Given the description of an element on the screen output the (x, y) to click on. 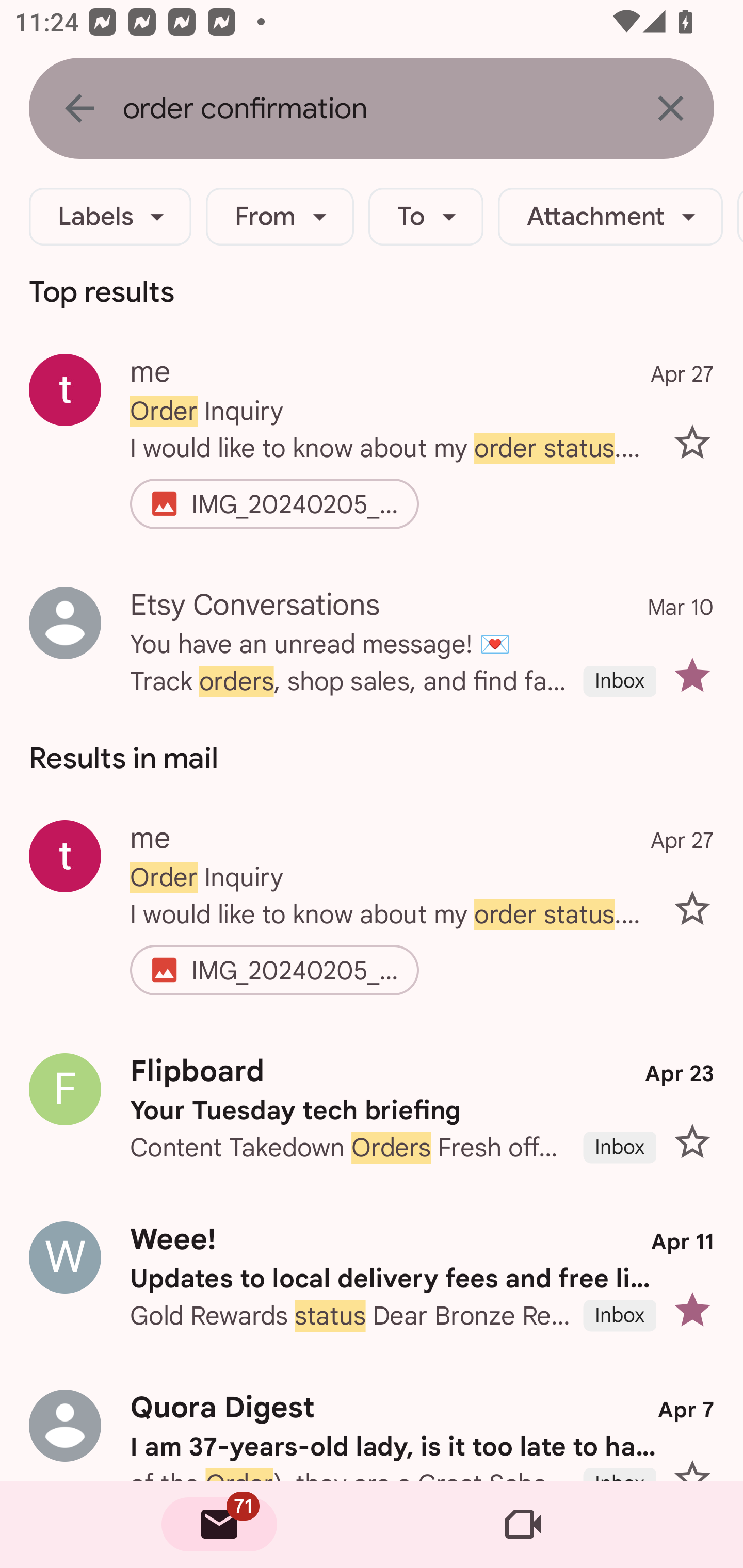
Navigate up (79, 108)
Clear search text (670, 108)
Labels (109, 217)
From (279, 217)
To (425, 217)
Attachment (609, 217)
IMG_20240205_090359 (296, 503)
IMG_20240205_090359 (296, 970)
Meet (523, 1524)
